Given the description of an element on the screen output the (x, y) to click on. 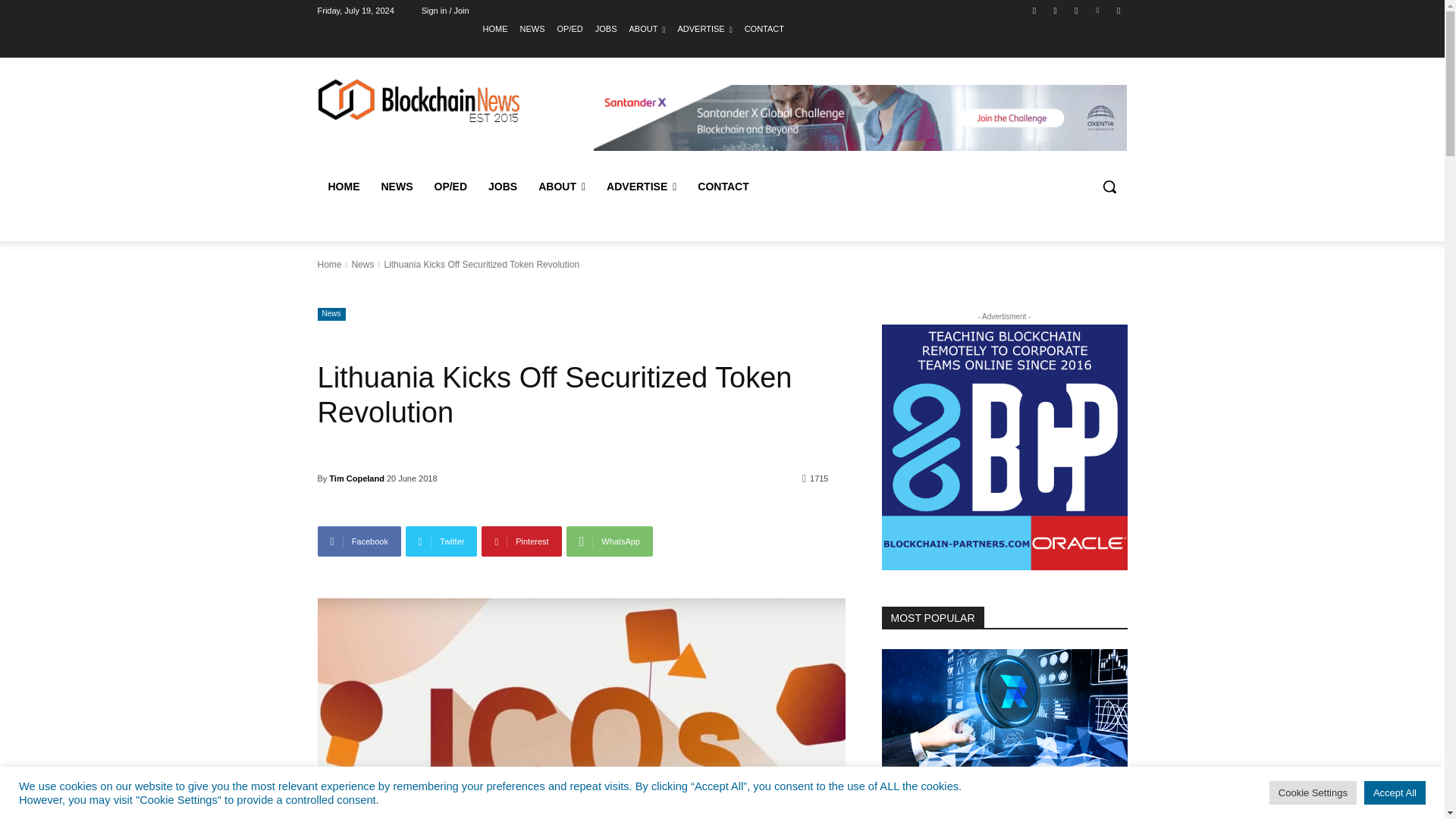
Youtube (1117, 9)
ABOUT (646, 28)
Instagram (1055, 9)
ADVERTISE (704, 28)
Blockchain News (396, 186)
Facebook (1034, 9)
HOME (495, 28)
Twitter (1075, 9)
View all posts in News (362, 264)
Vimeo (1097, 9)
NEWS (531, 28)
CONTACT (764, 28)
Blockchain News (531, 28)
JOBS (606, 28)
Facebook (358, 541)
